Given the description of an element on the screen output the (x, y) to click on. 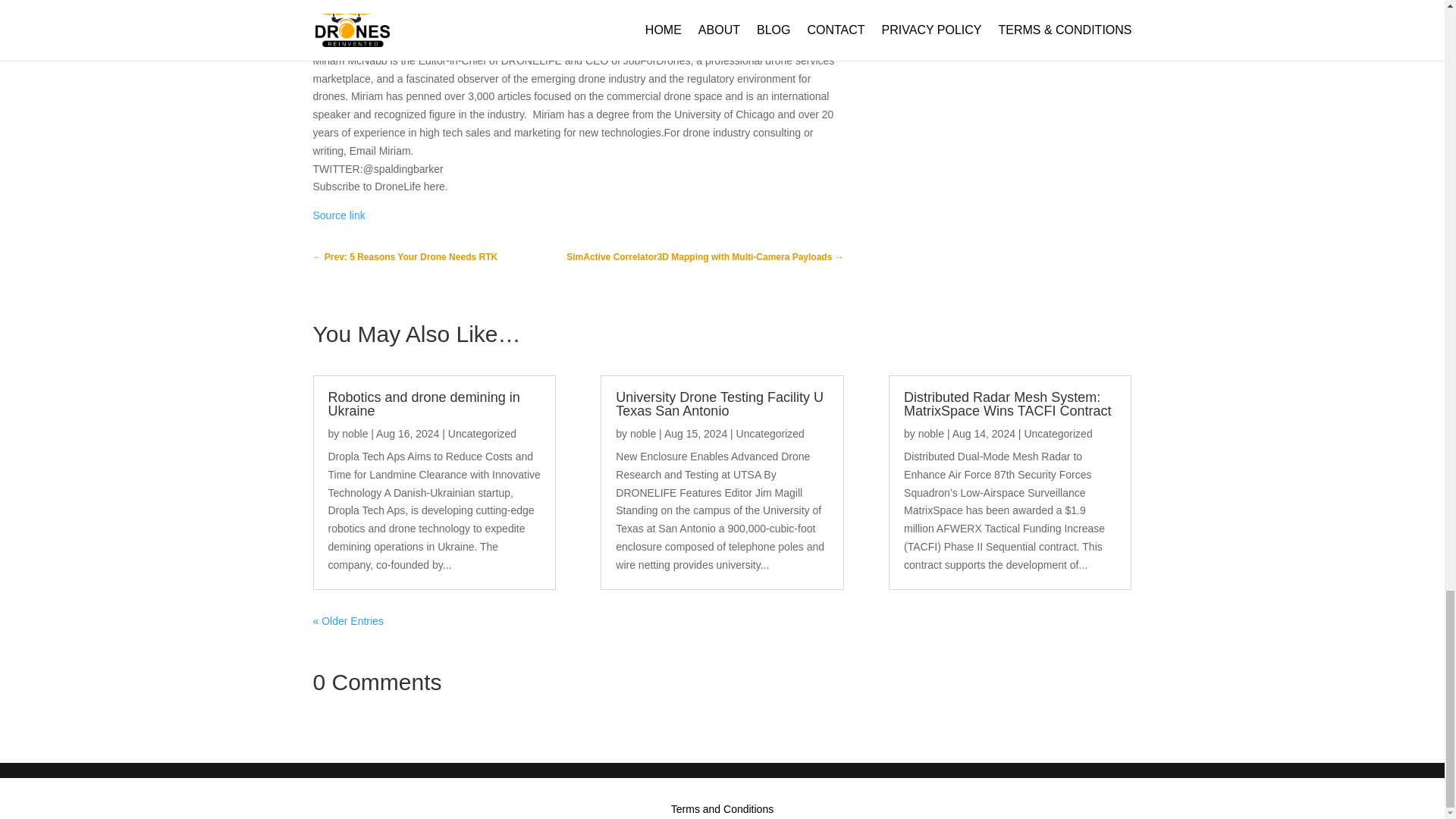
Uncategorized (482, 433)
noble (930, 433)
noble (643, 433)
noble (355, 433)
Posts by noble (643, 433)
Uncategorized (770, 433)
Robotics and drone demining in Ukraine (423, 403)
Source link (339, 215)
Posts by noble (930, 433)
